Given the description of an element on the screen output the (x, y) to click on. 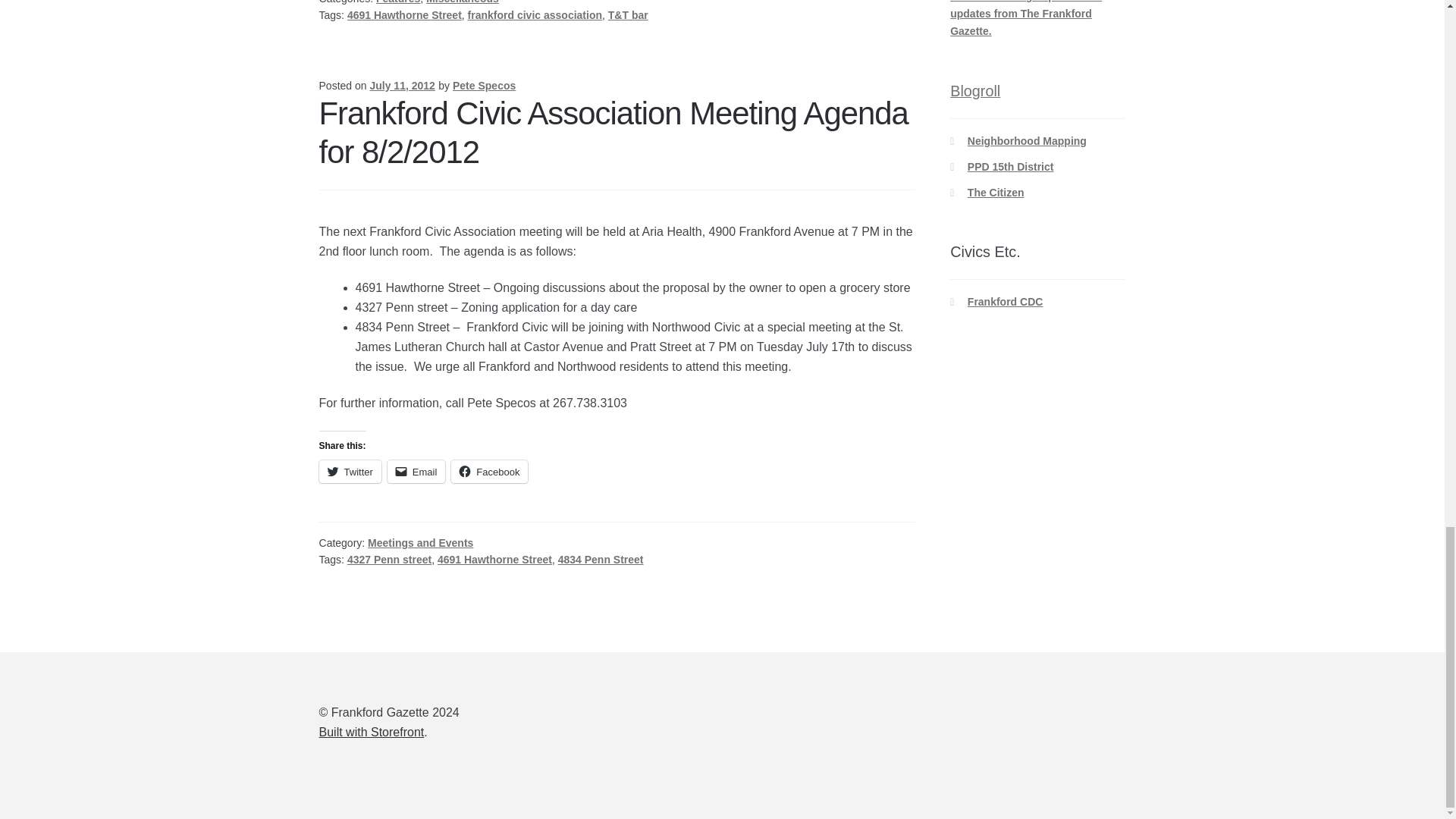
What neighborhood am I in? (1027, 141)
Frankford Community Development Corporation (1005, 301)
Click to share on Facebook (489, 471)
Click to email a link to a friend (416, 471)
Click to share on Twitter (349, 471)
Philadelphia Police 15th district list of community meetings (1011, 166)
